Given the description of an element on the screen output the (x, y) to click on. 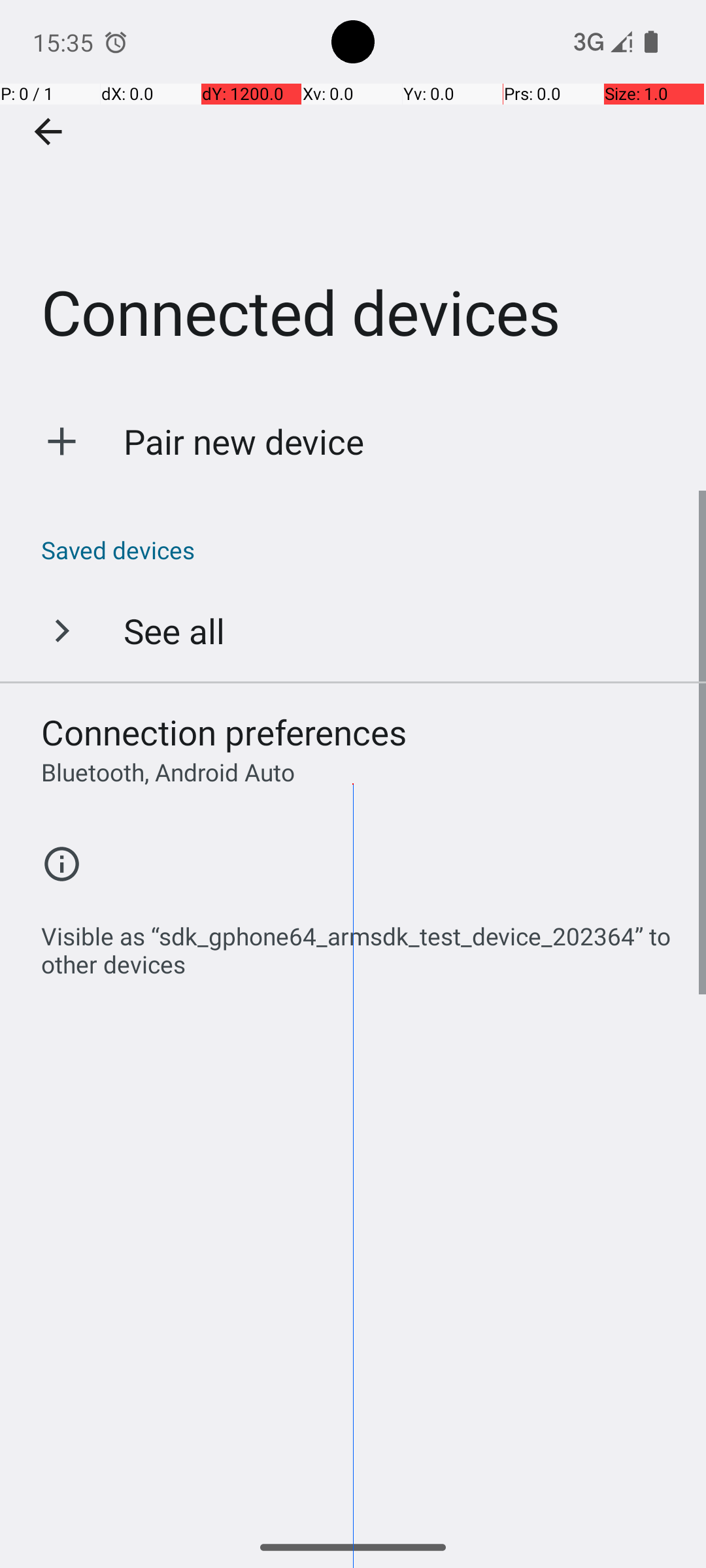
Visible as “sdk_gphone64_armsdk_test_device_202364” to other devices Element type: android.widget.TextView (359, 942)
